Given the description of an element on the screen output the (x, y) to click on. 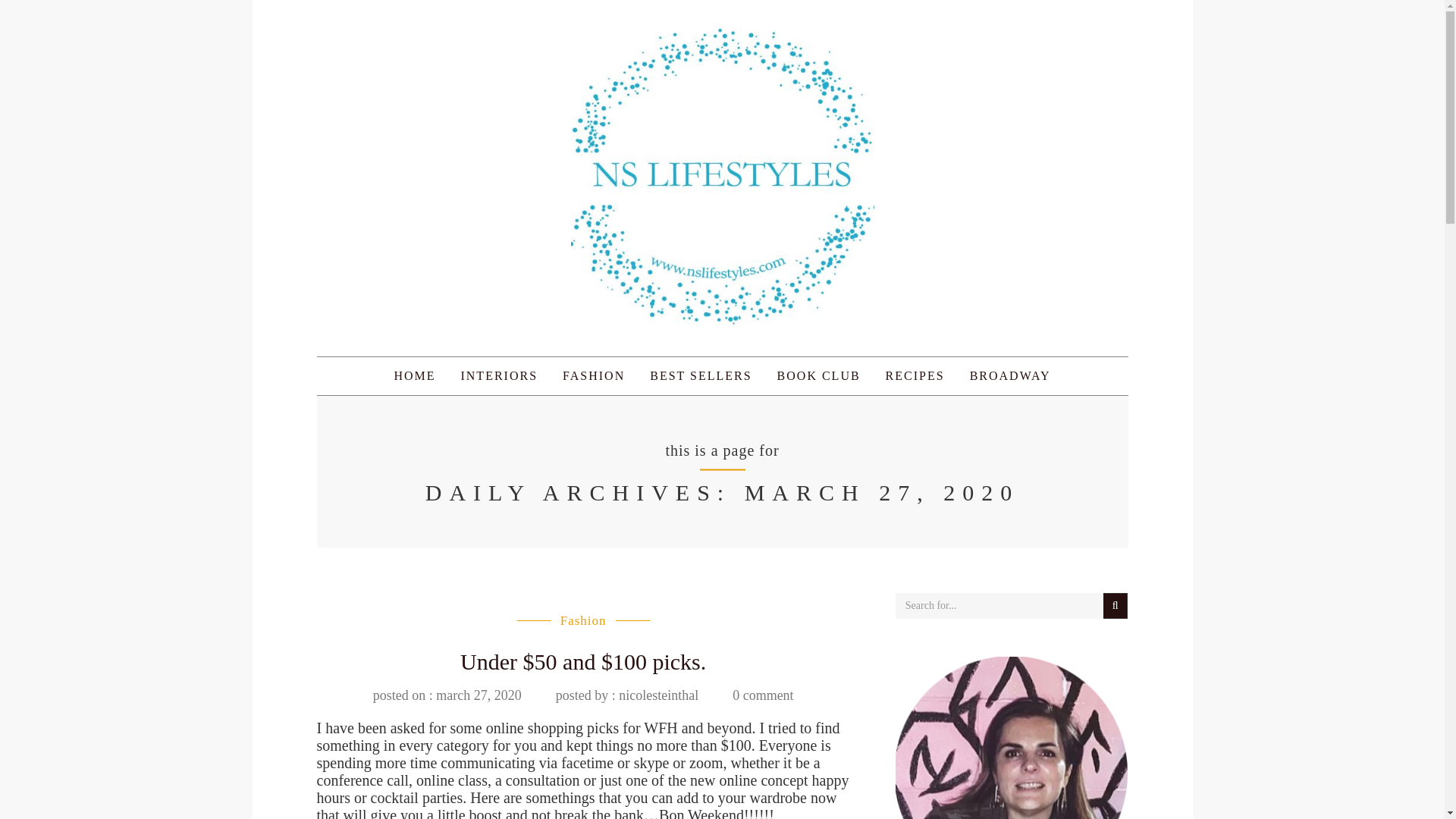
RECIPES (915, 375)
INTERIORS (498, 375)
Fashion (583, 620)
posted on : march 27, 2020 (446, 694)
posted by : nicolesteinthal (627, 694)
FASHION (593, 375)
BOOK CLUB (818, 375)
HOME (414, 375)
0 comment (762, 694)
BEST SELLERS (700, 375)
